Given the description of an element on the screen output the (x, y) to click on. 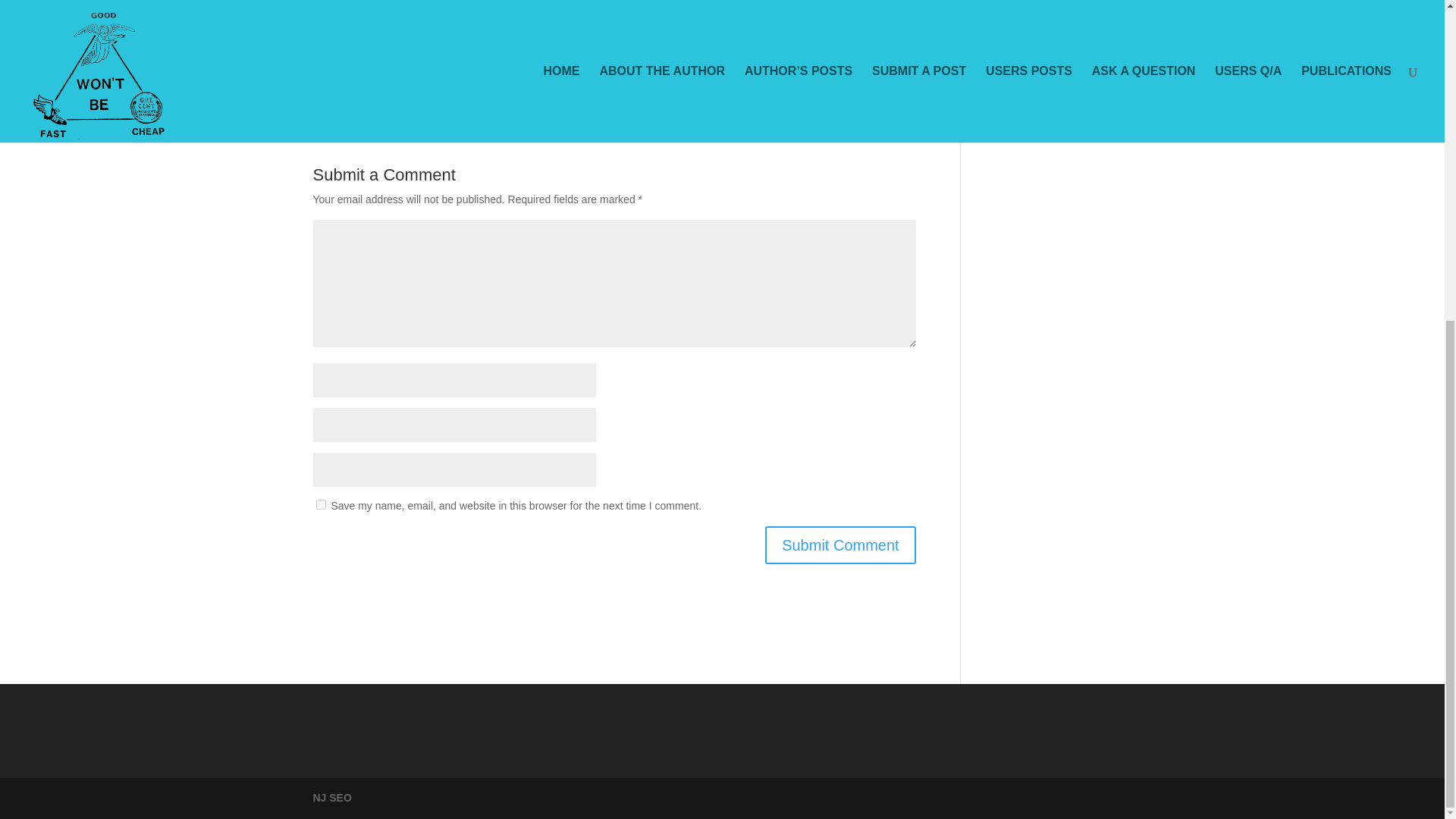
Submit Comment (840, 545)
yes (319, 504)
NJ SEO (331, 797)
Submit Comment (840, 545)
